Given the description of an element on the screen output the (x, y) to click on. 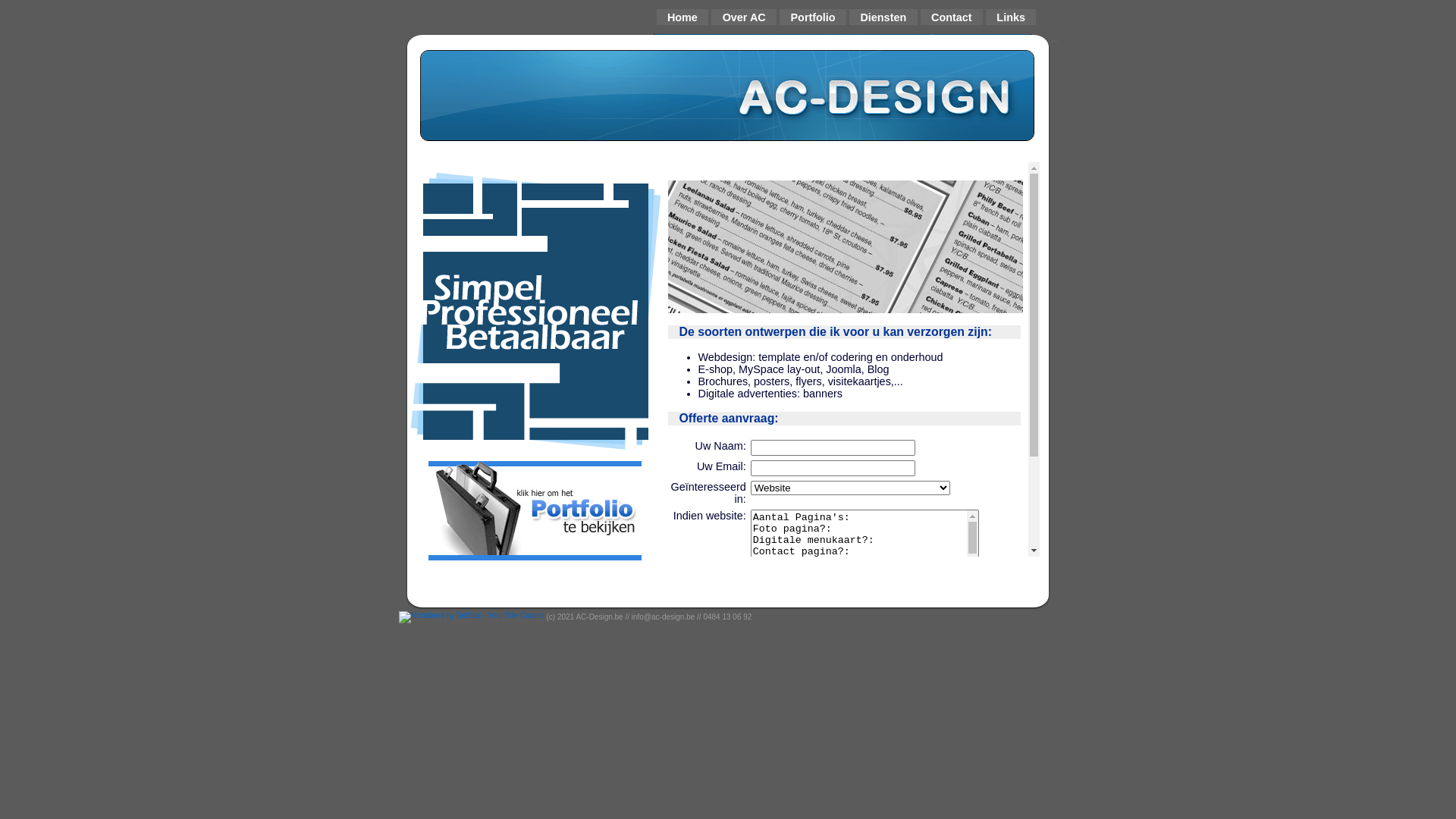
Over AC Element type: text (743, 17)
Home Element type: text (682, 17)
Contact Element type: text (951, 17)
Verzenden Element type: text (812, 660)
Diensten Element type: text (883, 17)
Links Element type: text (1010, 17)
Portfolio Element type: text (812, 17)
